Given the description of an element on the screen output the (x, y) to click on. 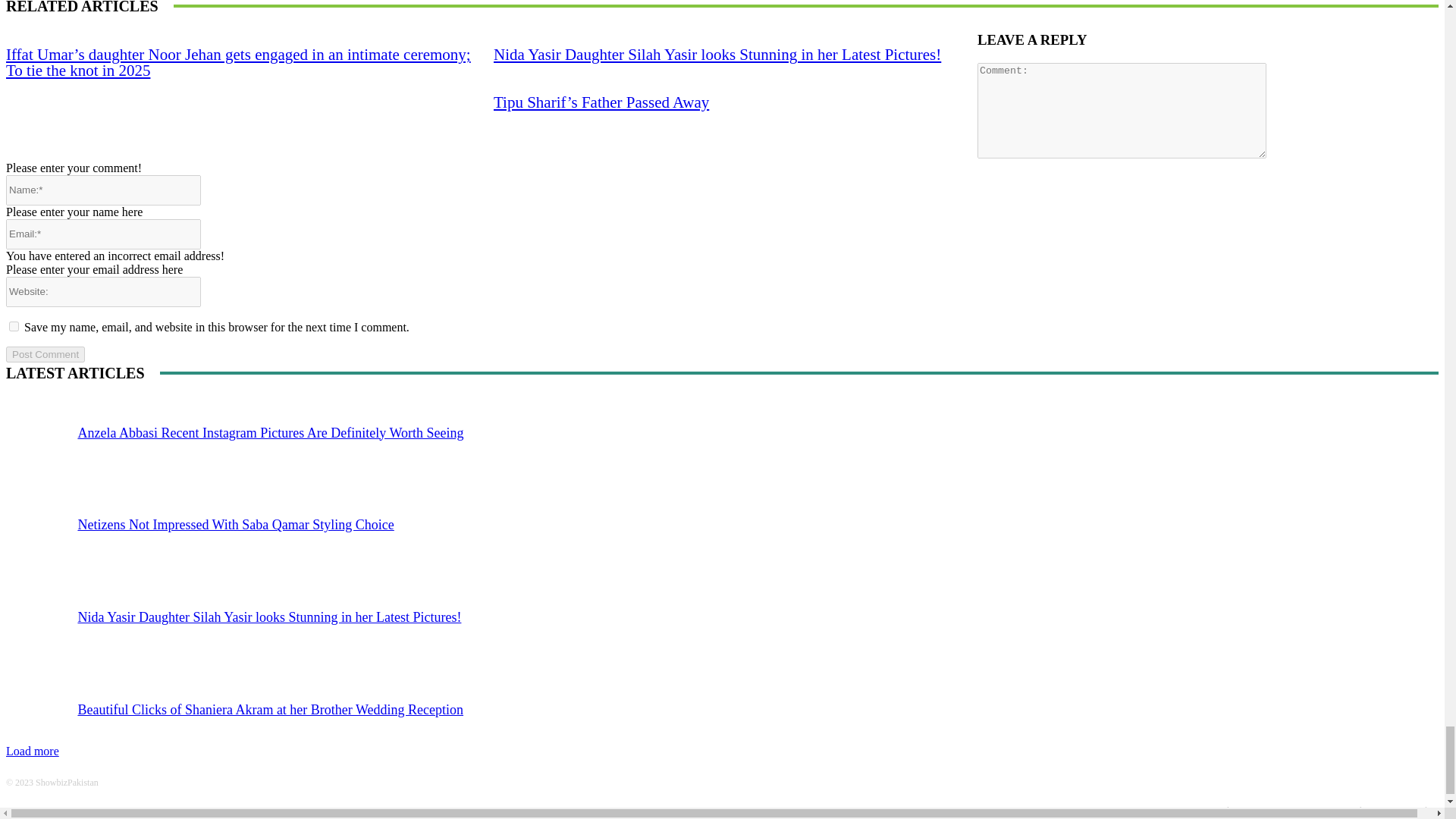
yes (13, 326)
Post Comment (44, 354)
